Given the description of an element on the screen output the (x, y) to click on. 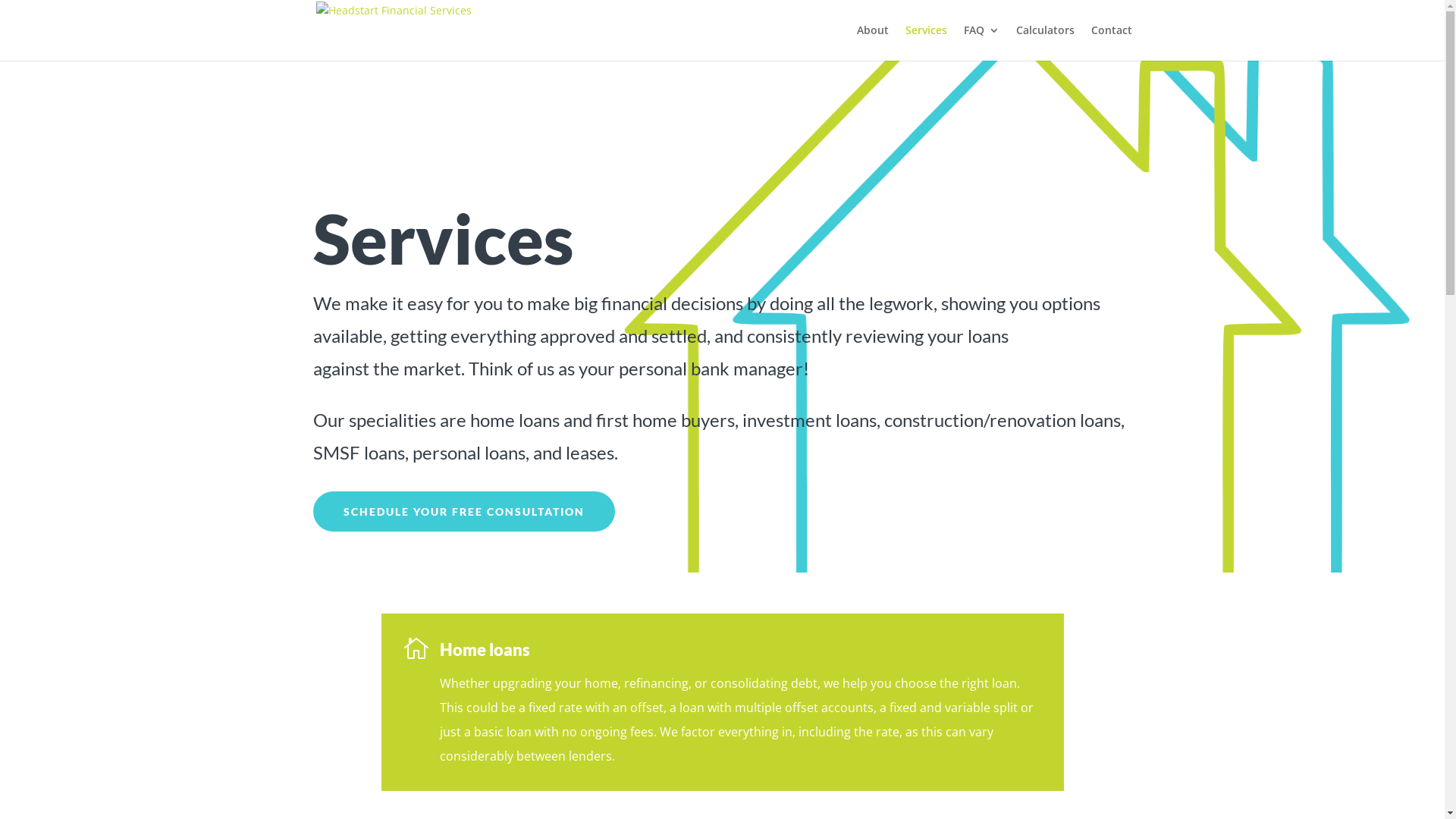
FAQ Element type: text (980, 42)
Contact Element type: text (1110, 42)
About Element type: text (872, 42)
Calculators Element type: text (1045, 42)
Services Element type: text (926, 42)
SCHEDULE YOUR FREE CONSULTATION Element type: text (463, 511)
